Given the description of an element on the screen output the (x, y) to click on. 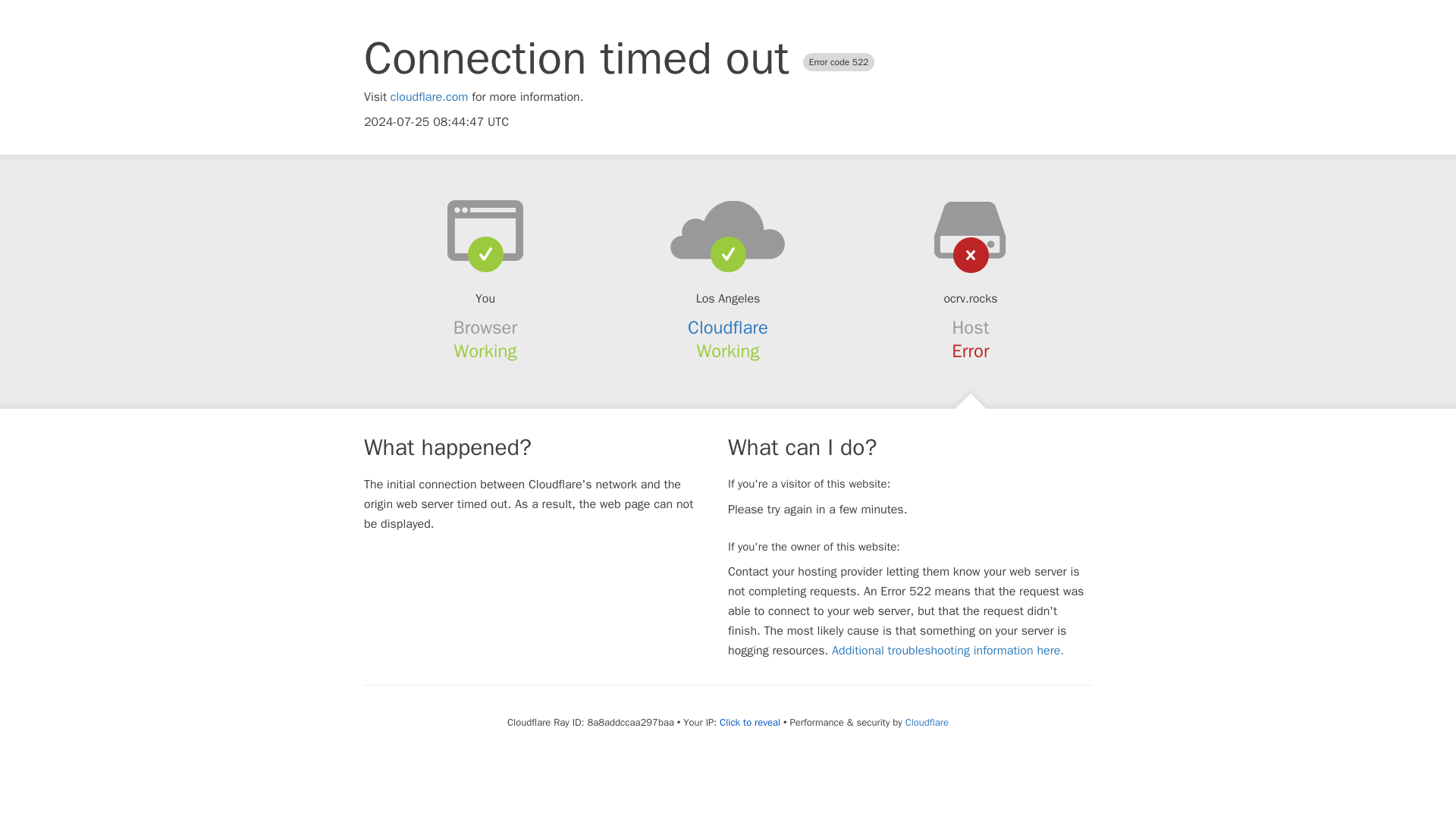
cloudflare.com (429, 96)
Click to reveal (749, 722)
Additional troubleshooting information here. (947, 650)
Cloudflare (927, 721)
Cloudflare (727, 327)
